Given the description of an element on the screen output the (x, y) to click on. 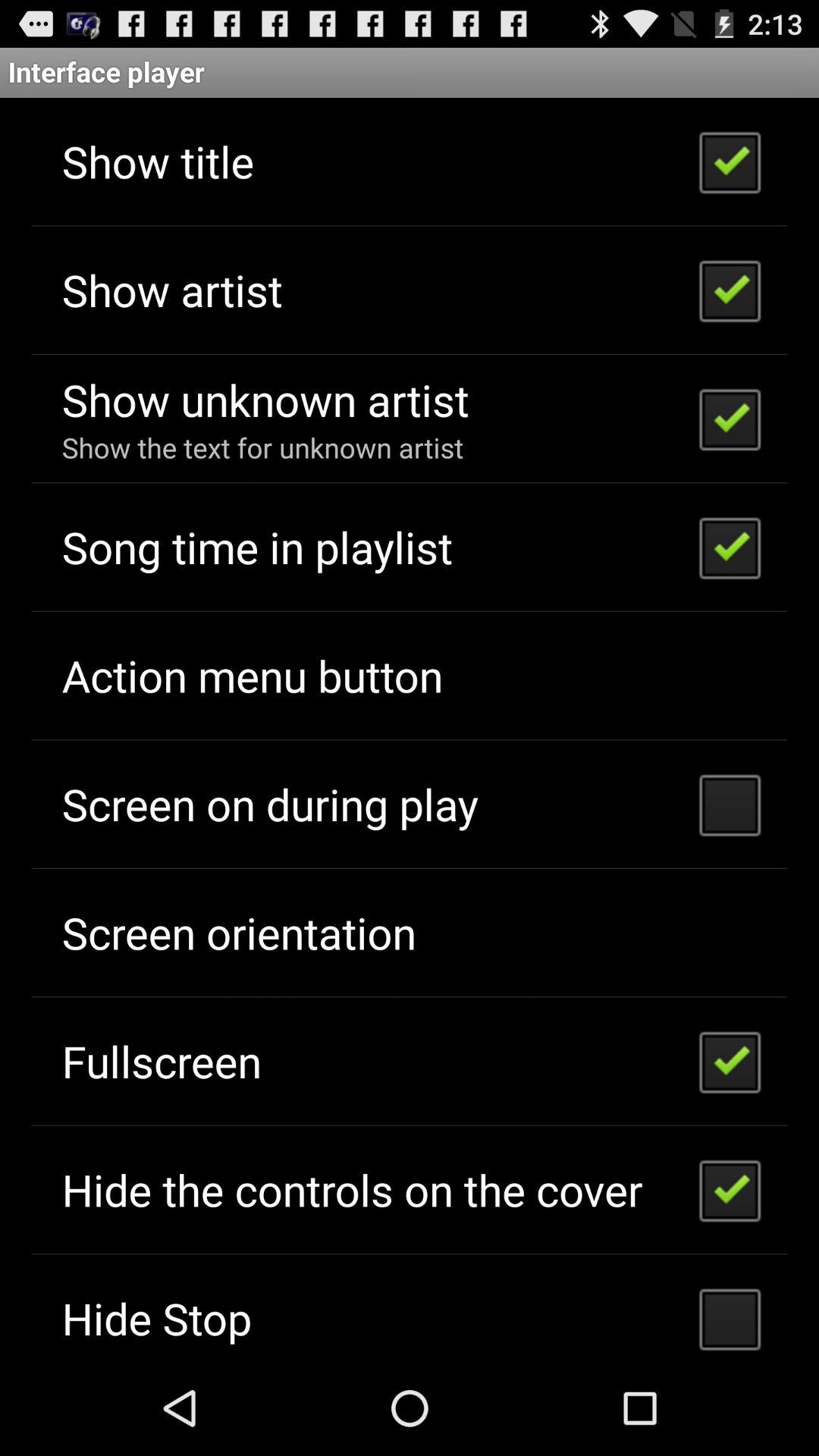
launch show the text app (262, 447)
